Given the description of an element on the screen output the (x, y) to click on. 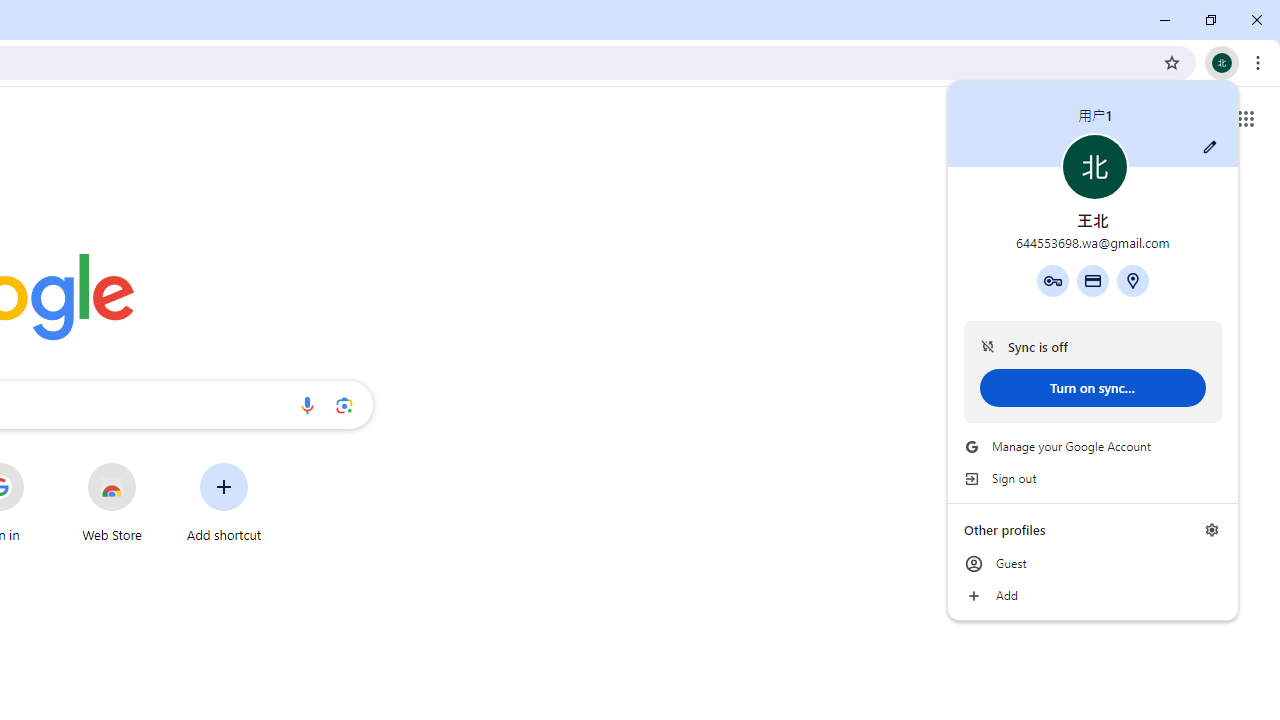
Web Store (111, 502)
Sign out (1092, 478)
Payment methods (1092, 280)
Manage your Google Account (1092, 446)
Manage profiles (1211, 529)
Guest (1092, 563)
Customize profile (1210, 147)
